Given the description of an element on the screen output the (x, y) to click on. 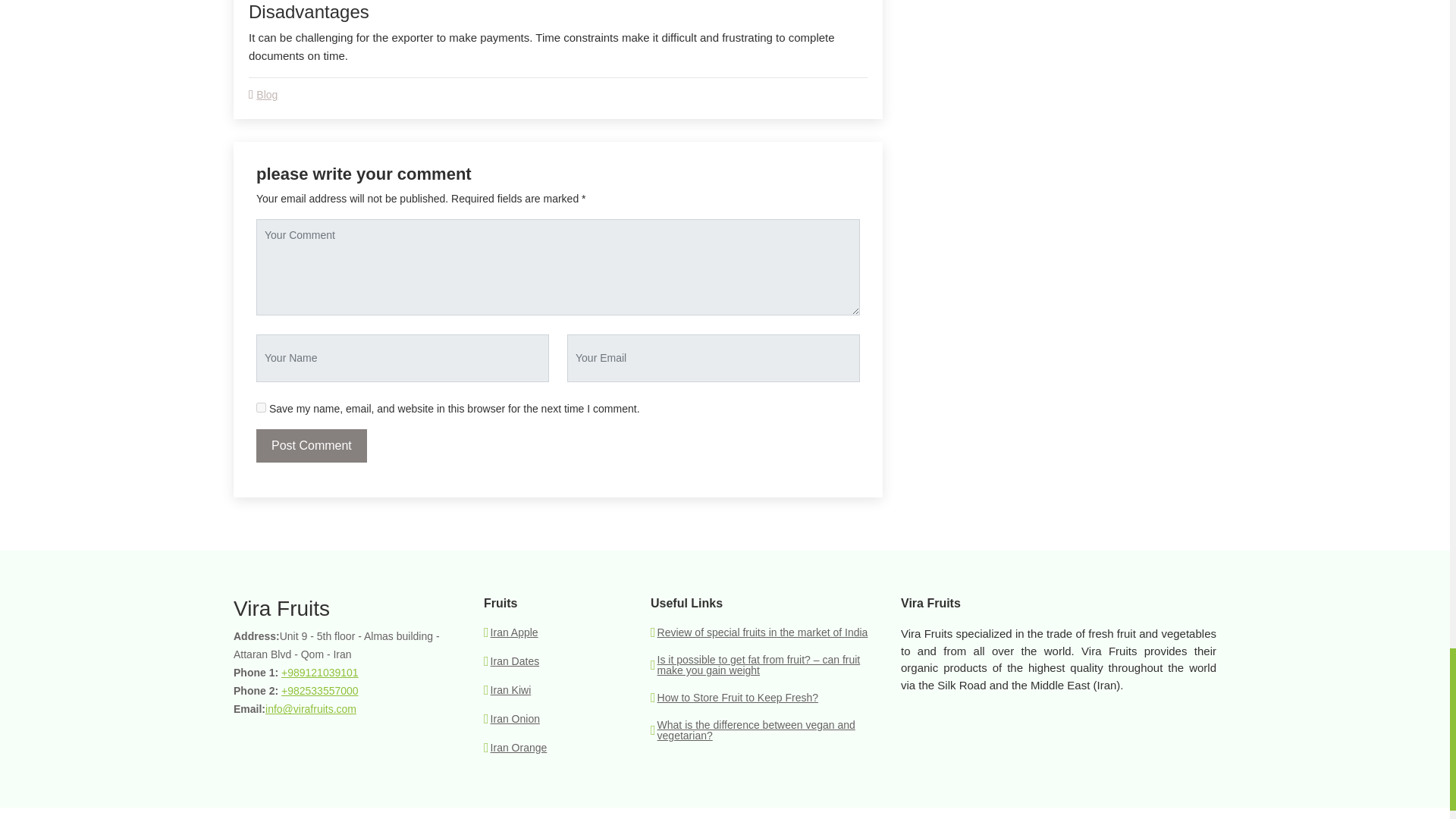
Post Comment (311, 445)
yes (261, 407)
Blog (267, 94)
